Given the description of an element on the screen output the (x, y) to click on. 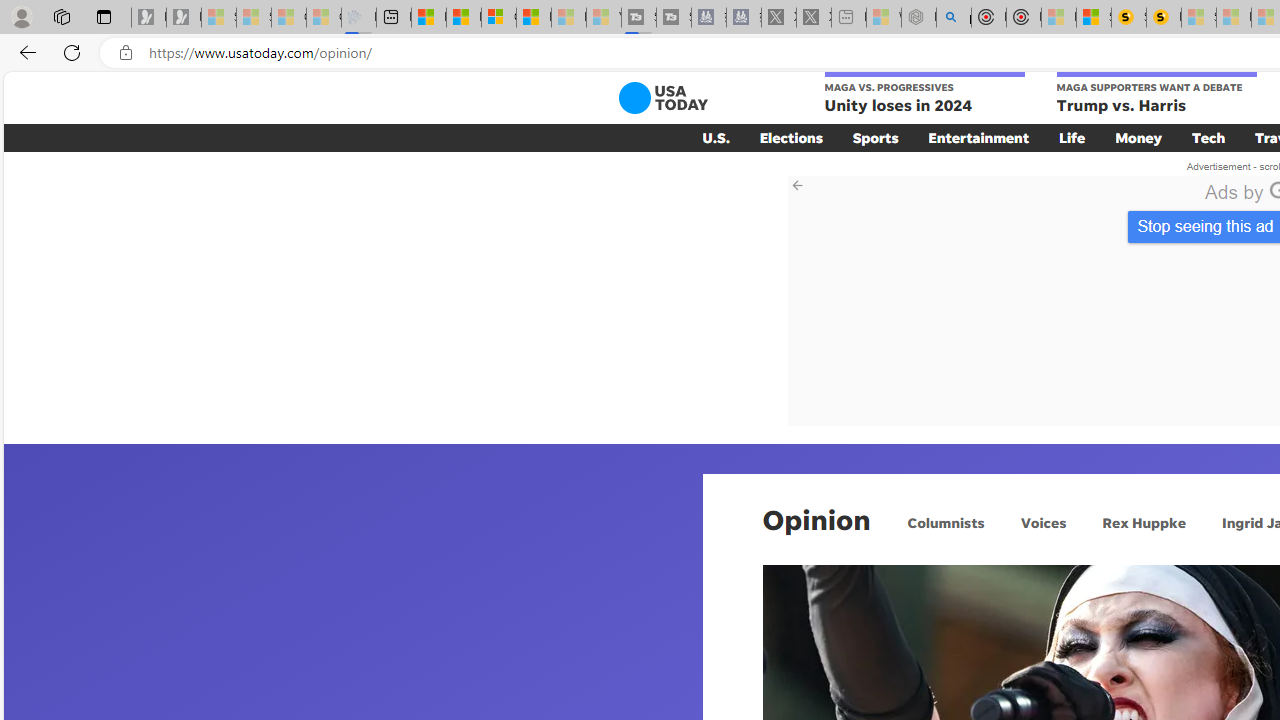
Voices (1042, 521)
